Given the description of an element on the screen output the (x, y) to click on. 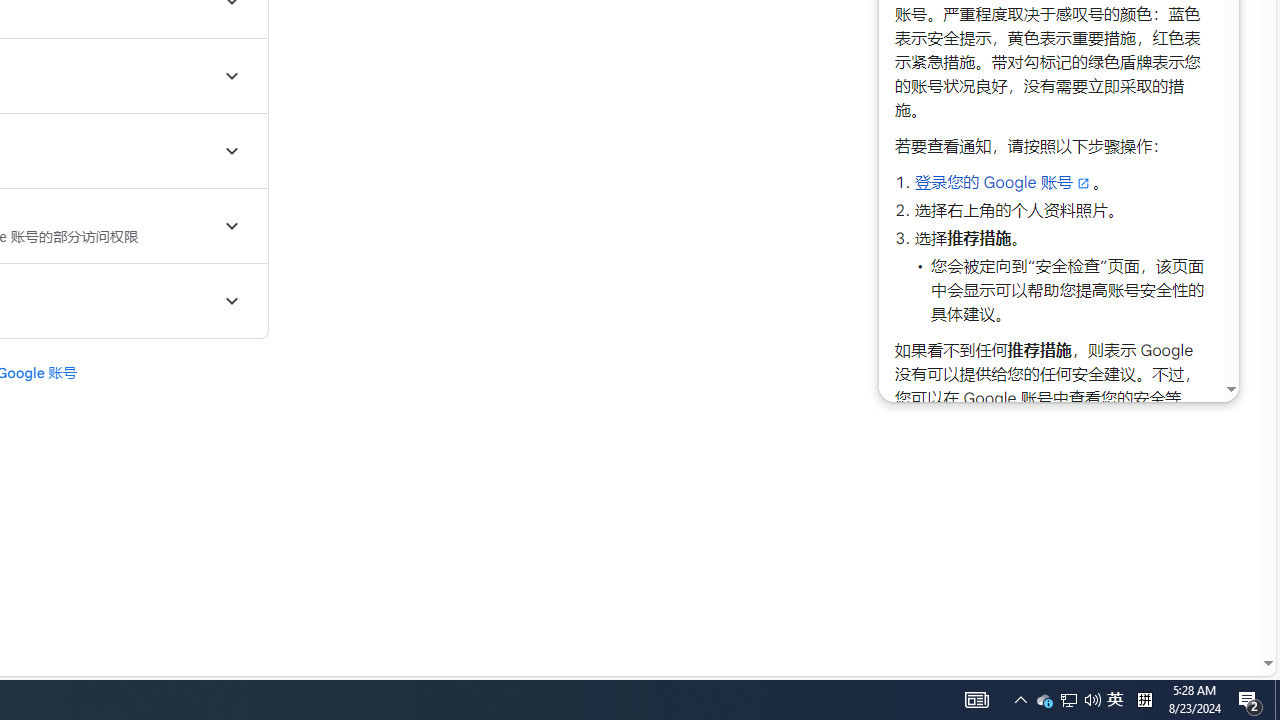
Tray Input Indicator - Chinese (Simplified, China) (1144, 699)
